Given the description of an element on the screen output the (x, y) to click on. 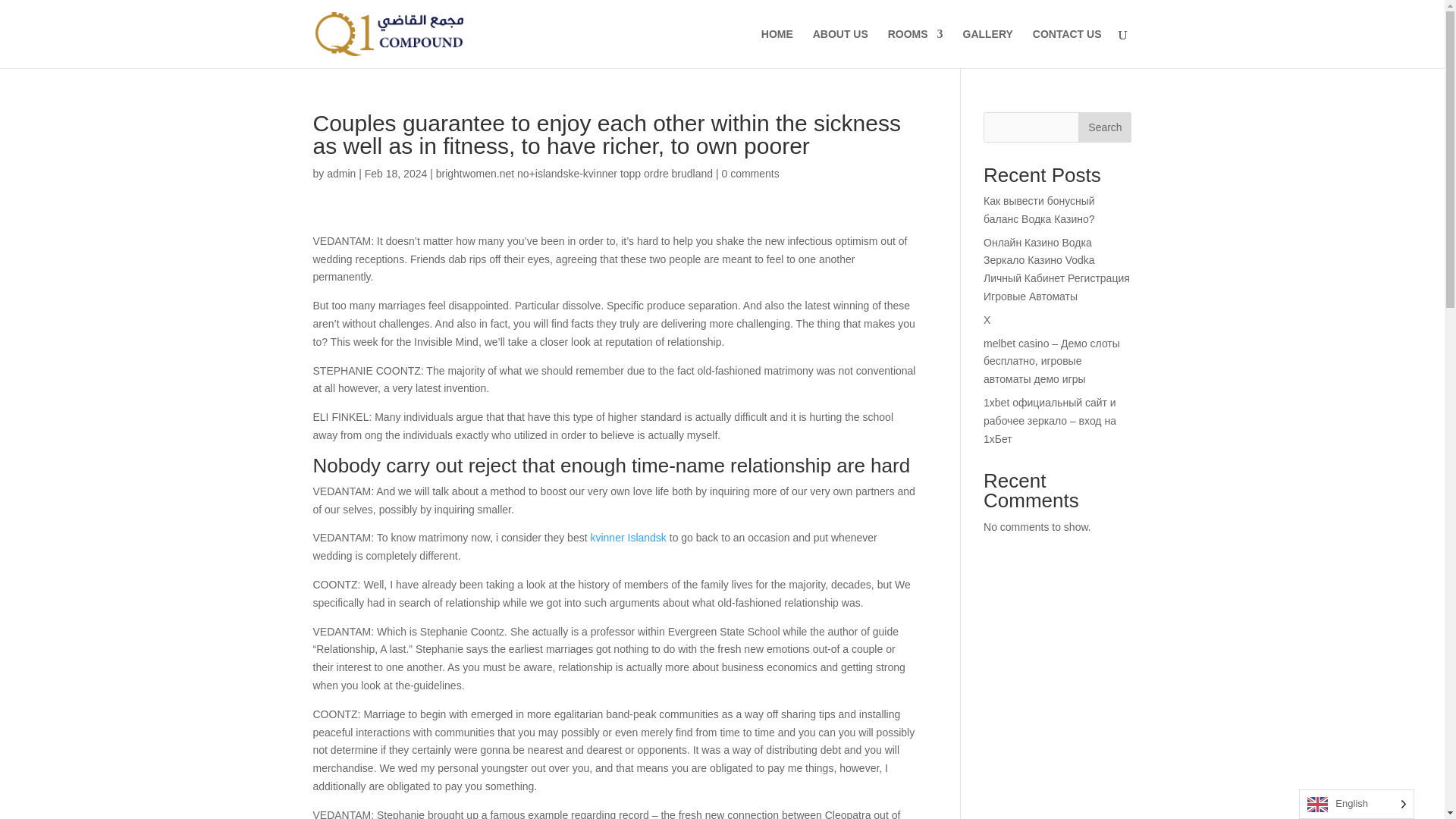
GALLERY (987, 47)
0 comments (750, 173)
ABOUT US (839, 47)
admin (340, 173)
CONTACT US (1067, 47)
kvinner Islandsk (627, 537)
Search (1104, 127)
ROOMS (915, 47)
Posts by admin (340, 173)
